Given the description of an element on the screen output the (x, y) to click on. 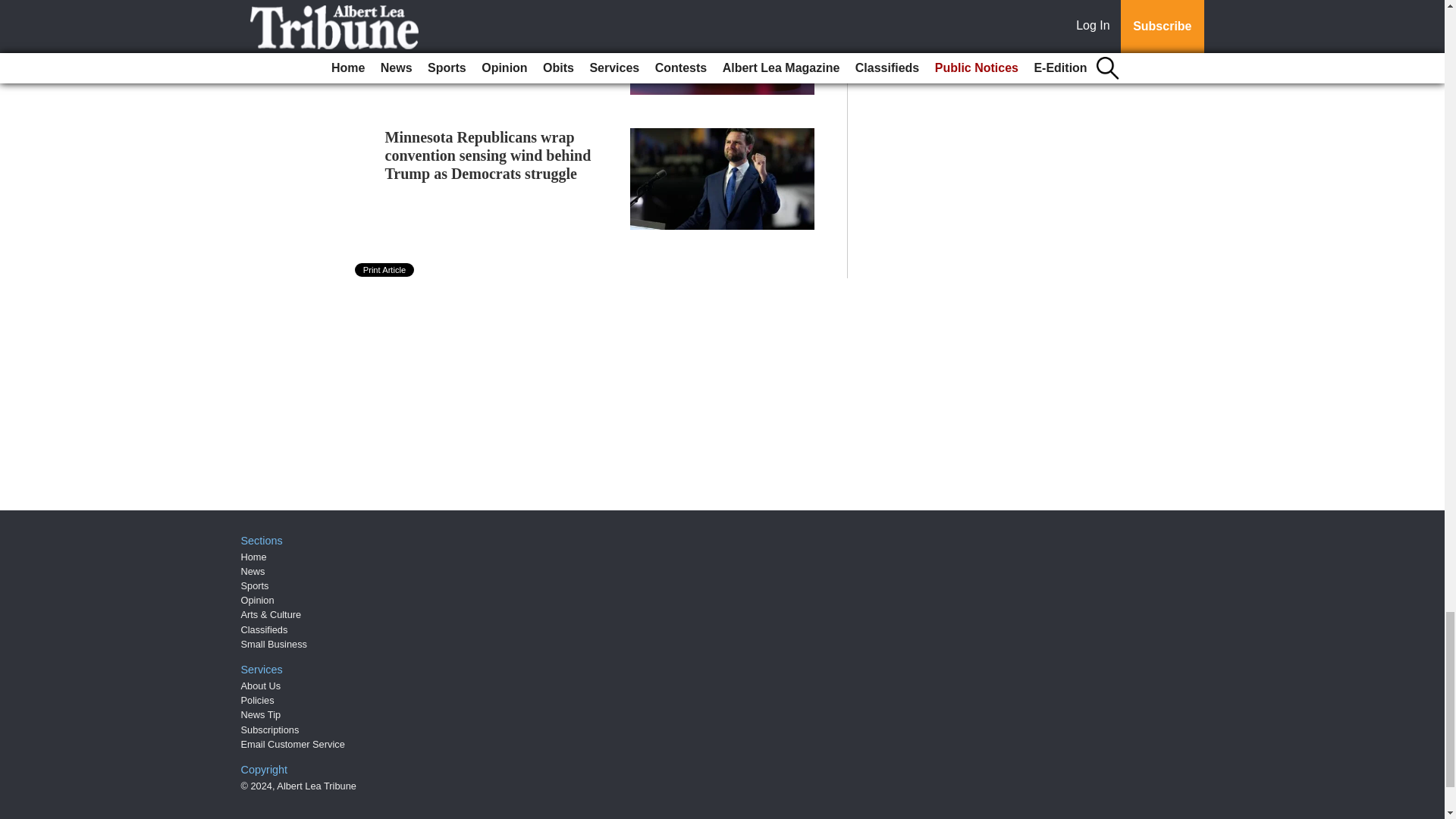
2 arrested for DWI and other reports (480, 4)
